Given the description of an element on the screen output the (x, y) to click on. 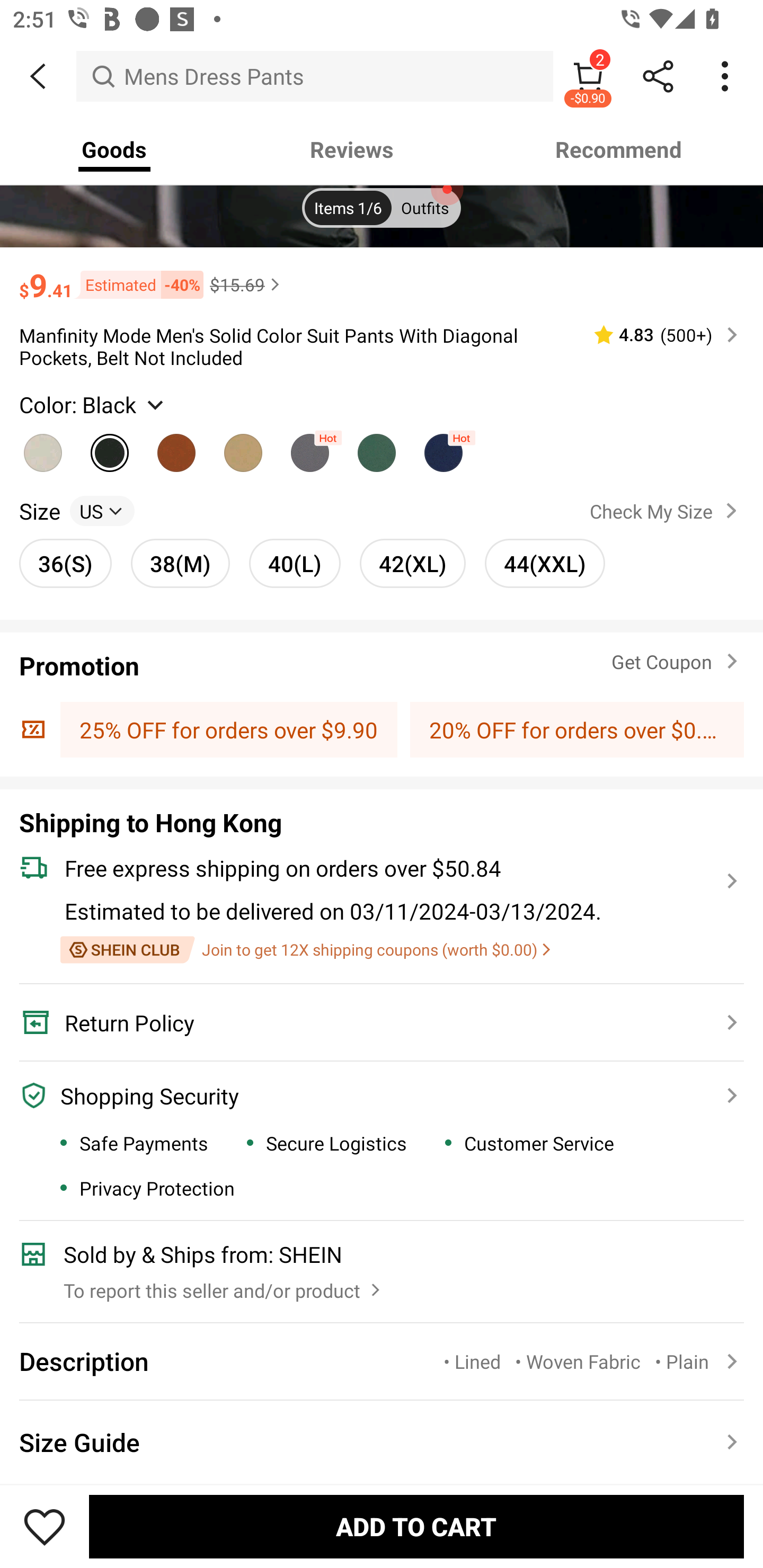
BACK (38, 75)
2 -$0.90 (588, 75)
Mens Dress Pants (314, 75)
Goods (114, 149)
Reviews (351, 149)
Recommend (618, 149)
Items 1/6 (347, 208)
Outfits (424, 208)
$9.41 Estimated -40% $15.69 (381, 276)
Estimated -40% (137, 285)
$15.69 (246, 284)
4.83 (500‎+) (658, 334)
Color: Black (93, 404)
Beige (42, 448)
Black (109, 448)
Bronze (176, 448)
Khaki (242, 448)
Dark Grey (309, 448)
Dark Green (376, 448)
Navy Blue (443, 448)
Size (39, 510)
US (102, 510)
Check My Size (666, 510)
36(S) 36(S)unselected option (65, 563)
38(M) 38(M)unselected option (180, 563)
40(L) 40(L)unselected option (294, 563)
42(XL) 42(XL)unselected option (412, 563)
44(XXL) 44(XXL)unselected option (544, 563)
Join to get 12X shipping coupons (worth $0.00) (305, 950)
Return Policy (370, 1021)
To report this seller and/or product   (224, 1285)
Size Guide (381, 1441)
ADD TO CART (416, 1526)
Save (44, 1526)
